Given the description of an element on the screen output the (x, y) to click on. 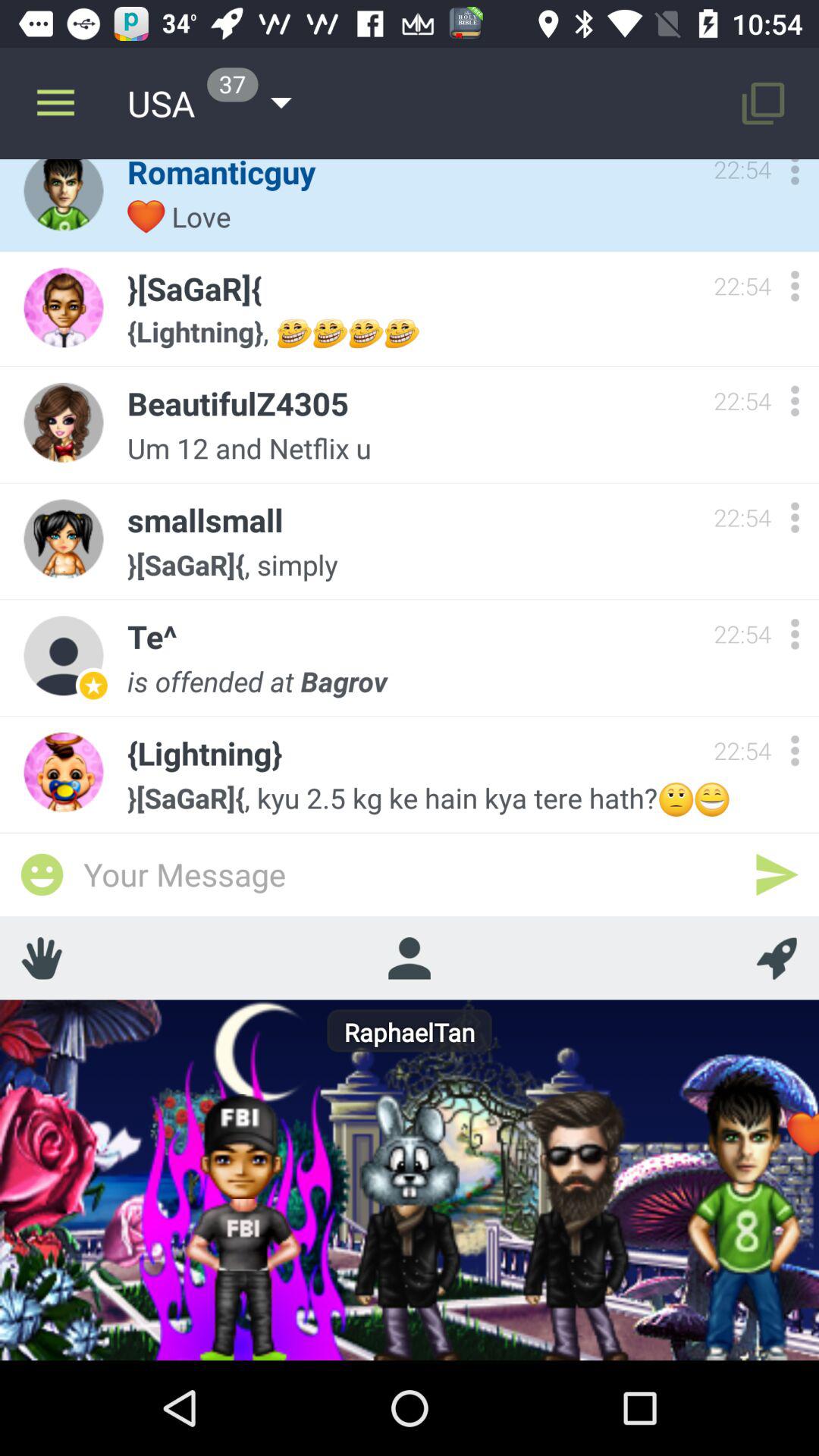
more options (795, 634)
